Given the description of an element on the screen output the (x, y) to click on. 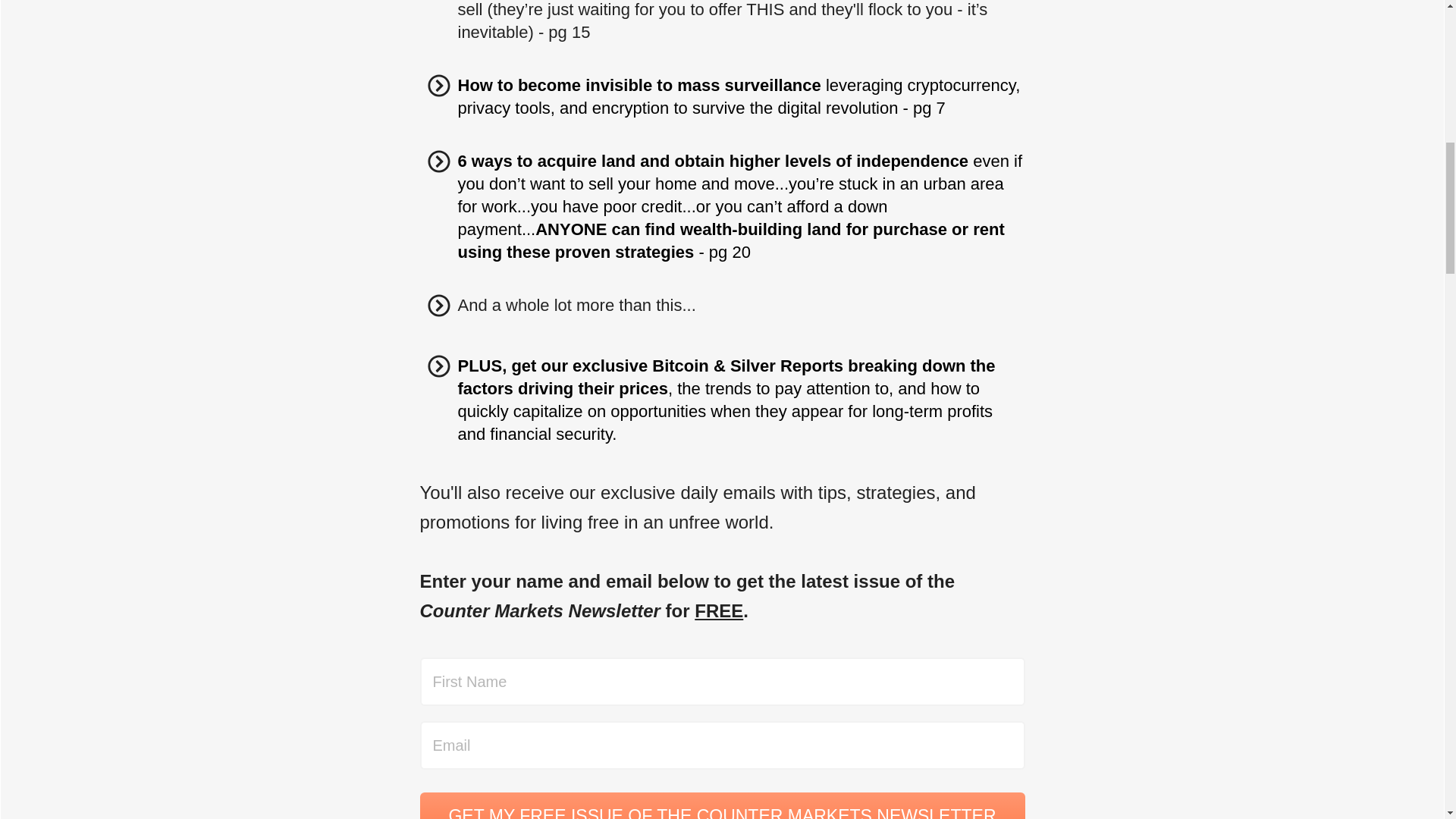
GET MY FREE ISSUE OF THE COUNTER MARKETS NEWSLETTER (722, 805)
